Given the description of an element on the screen output the (x, y) to click on. 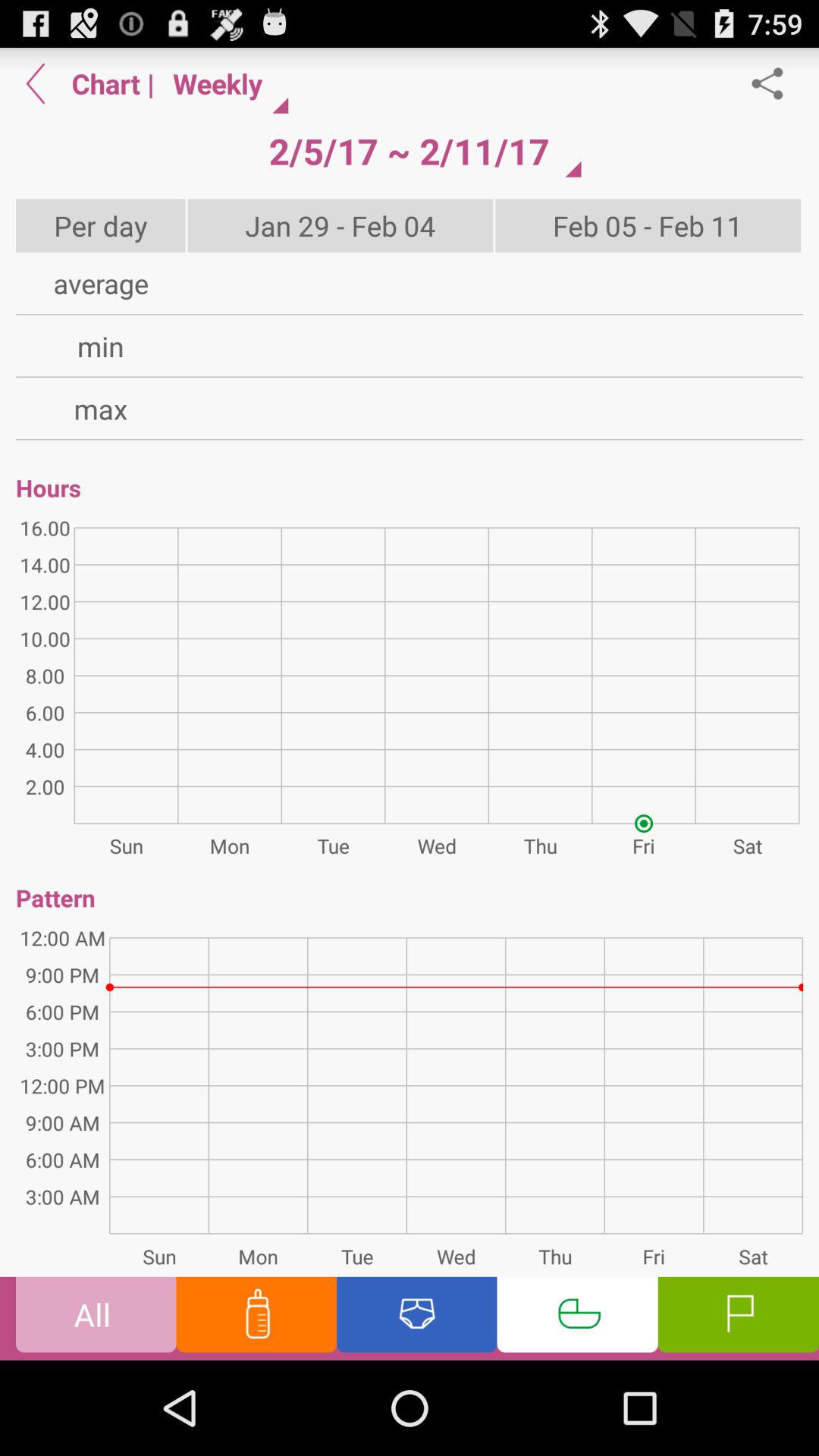
click item above feb 05 feb app (775, 83)
